Given the description of an element on the screen output the (x, y) to click on. 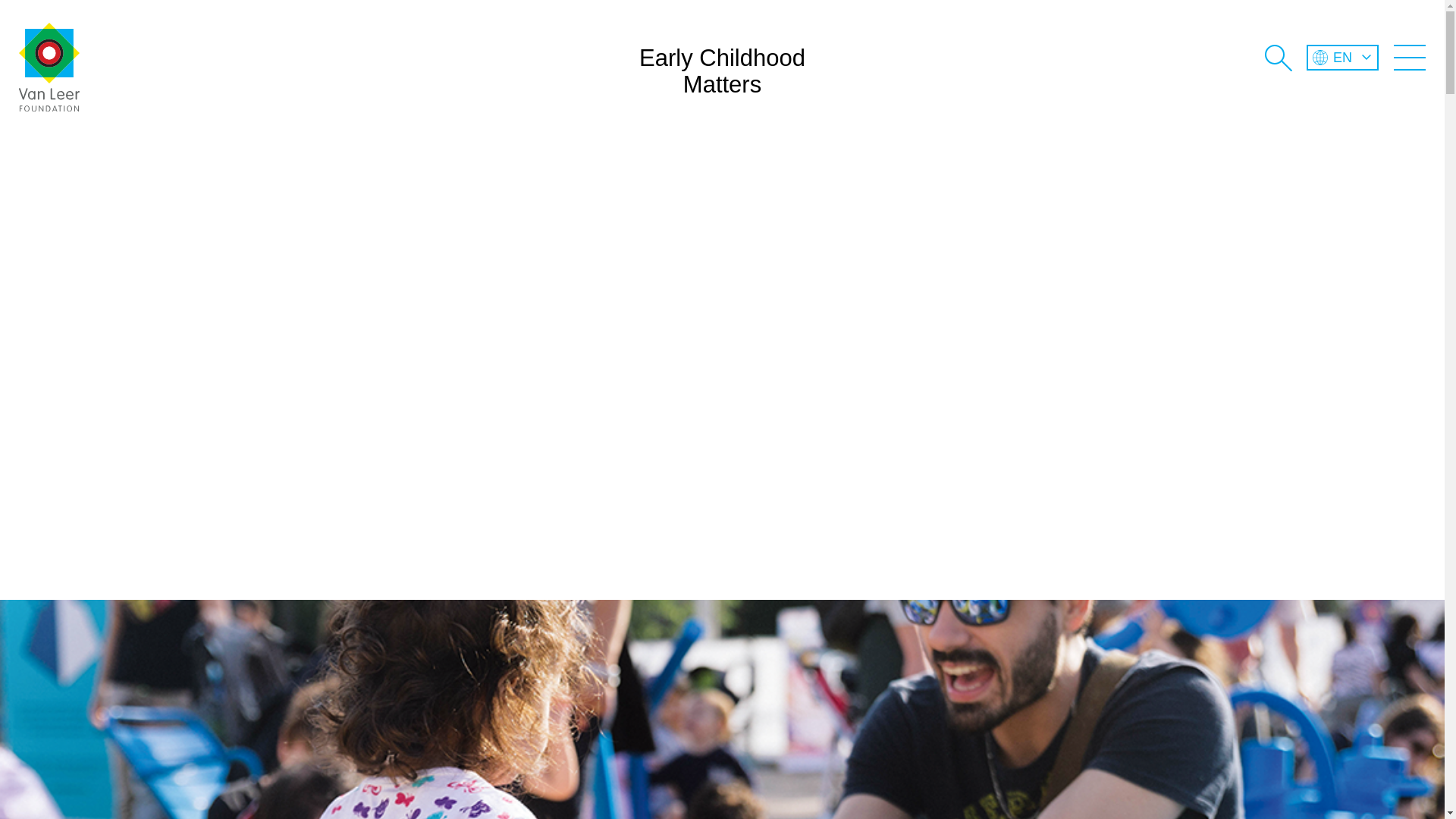
EN (1342, 57)
Early Childhood Matters (721, 96)
